Given the description of an element on the screen output the (x, y) to click on. 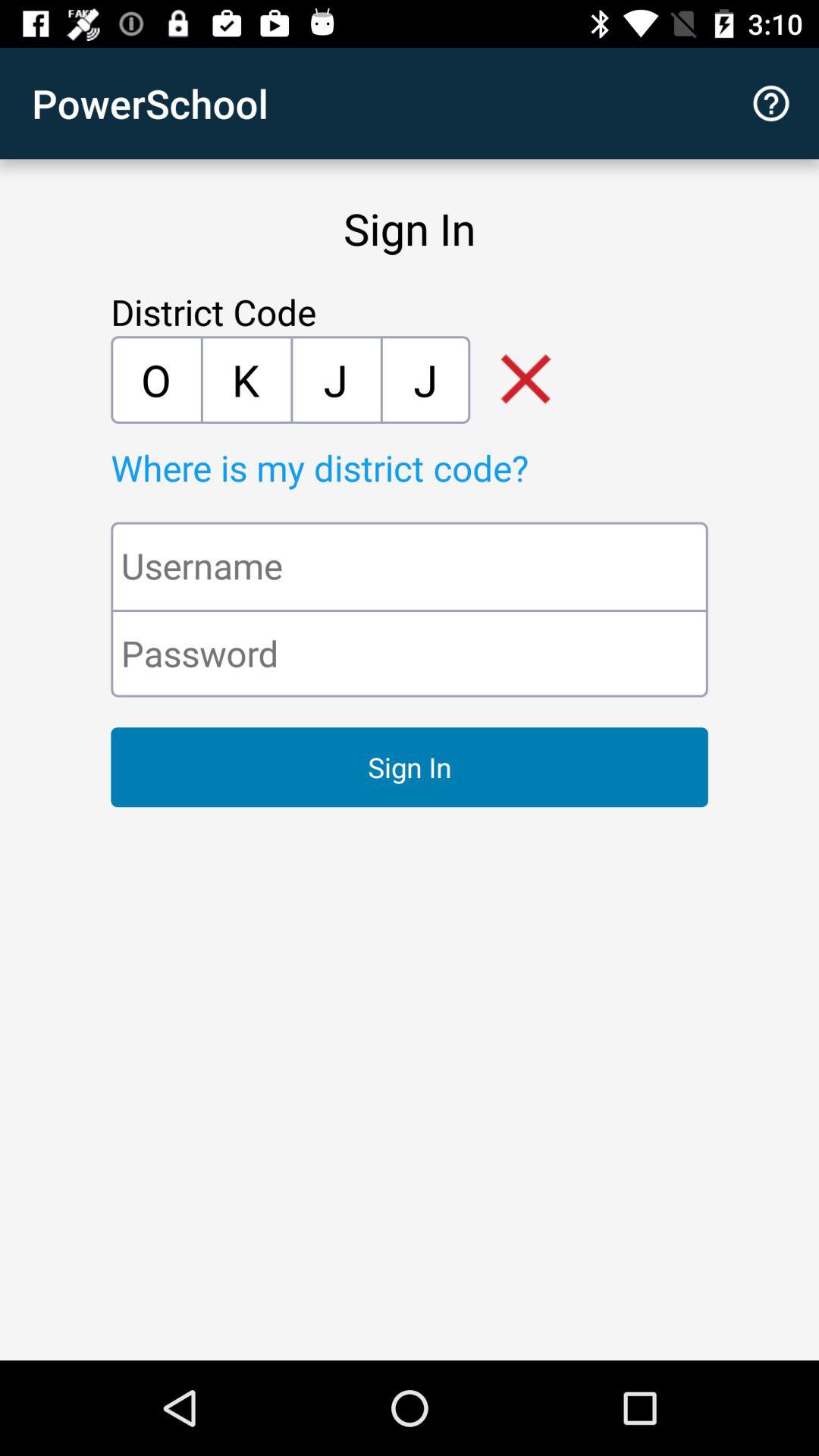
tap icon above sign in item (771, 103)
